Given the description of an element on the screen output the (x, y) to click on. 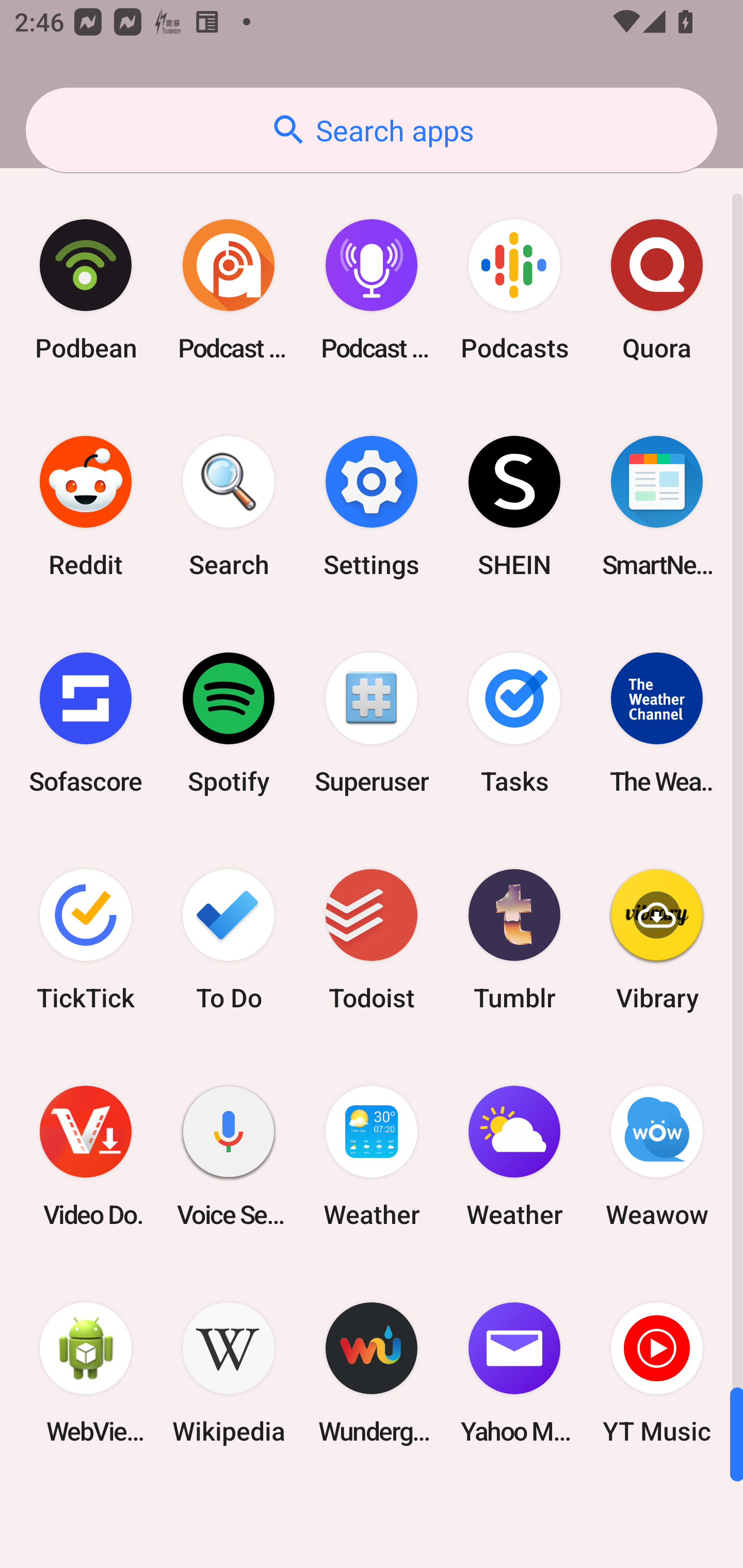
  Search apps (371, 130)
Podbean (85, 289)
Podcast Addict (228, 289)
Podcast Player (371, 289)
Podcasts (514, 289)
Quora (656, 289)
Reddit (85, 506)
Search (228, 506)
Settings (371, 506)
SHEIN (514, 506)
SmartNews (656, 506)
Sofascore (85, 722)
Spotify (228, 722)
Superuser (371, 722)
Tasks (514, 722)
The Weather Channel (656, 722)
TickTick (85, 939)
To Do (228, 939)
Todoist (371, 939)
Tumblr (514, 939)
Vibrary (656, 939)
Video Downloader & Ace Player (85, 1156)
Voice Search (228, 1156)
Weather (371, 1156)
Weather (514, 1156)
Weawow (656, 1156)
WebView Browser Tester (85, 1373)
Wikipedia (228, 1373)
Wunderground (371, 1373)
Yahoo Mail (514, 1373)
YT Music (656, 1373)
